Given the description of an element on the screen output the (x, y) to click on. 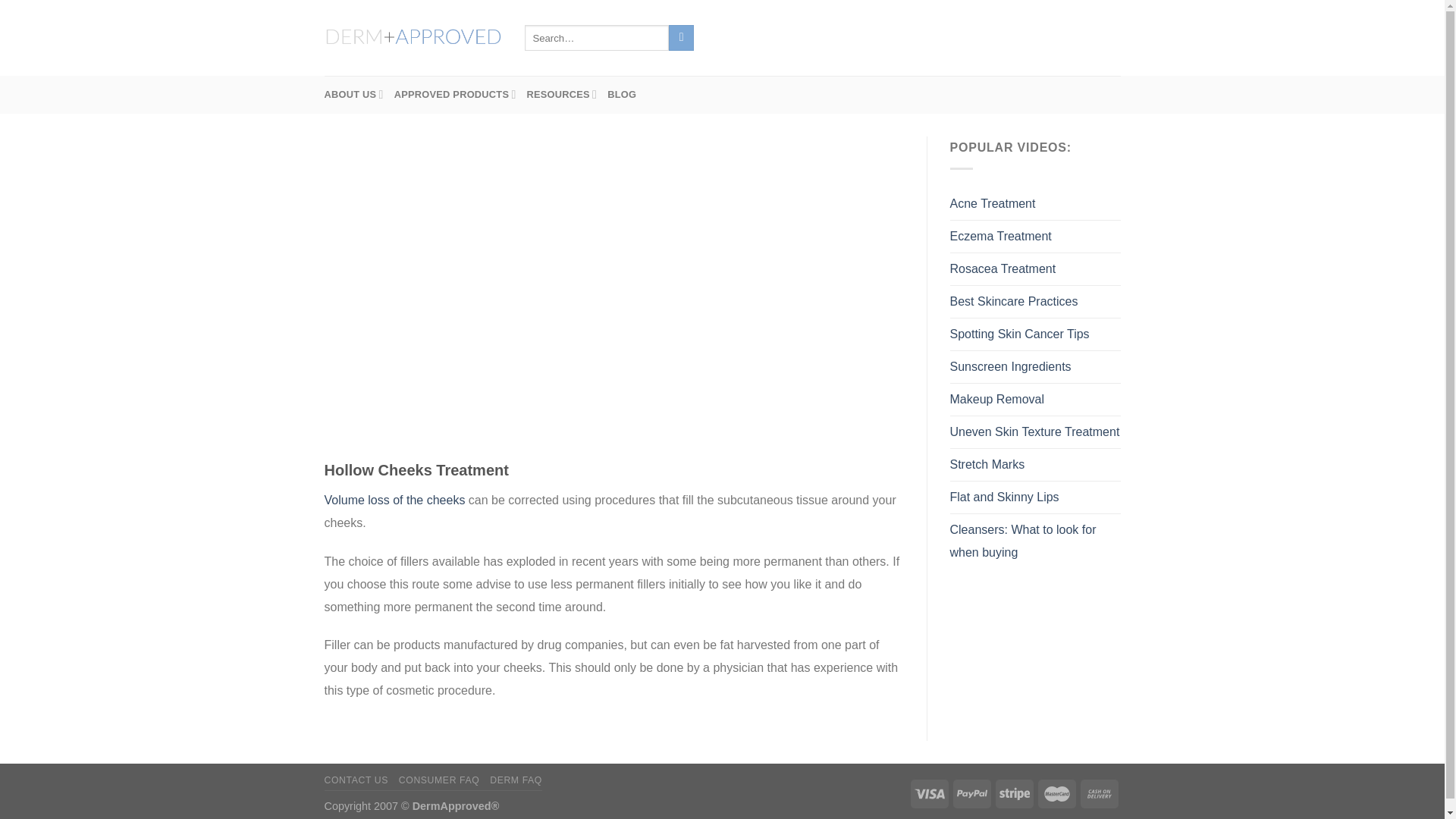
APPROVED PRODUCTS (455, 94)
Acne Treatment (992, 204)
Eczema Treatment (1000, 236)
Derm Approved - Skin Care Derm Approved (413, 37)
ABOUT US (354, 94)
RESOURCES (561, 94)
Search (681, 37)
Volume loss of the cheeks (394, 499)
